Given the description of an element on the screen output the (x, y) to click on. 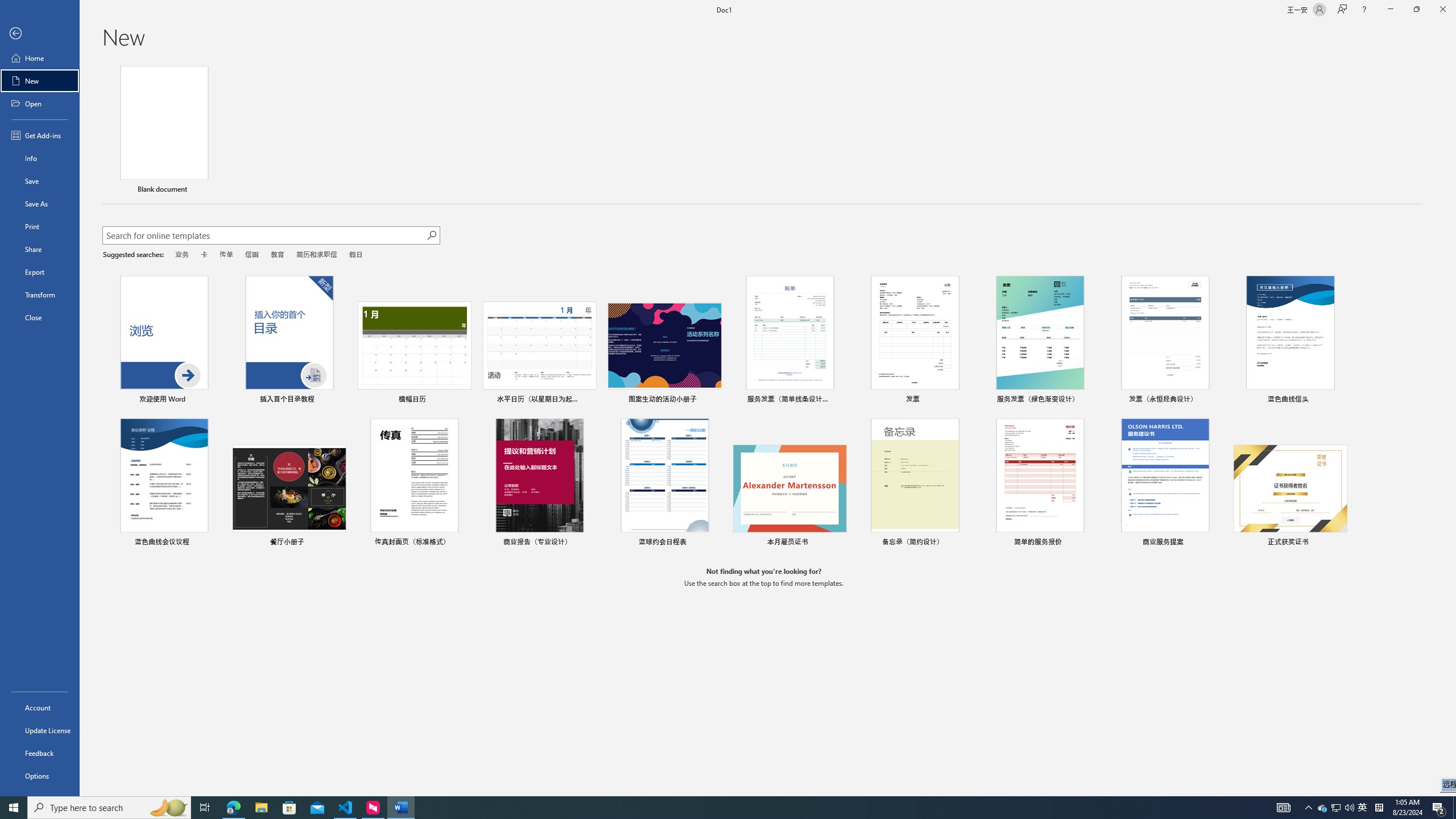
Save As (40, 203)
Back (40, 33)
Export (40, 271)
Close (40, 317)
Pin to list (1339, 543)
